Given the description of an element on the screen output the (x, y) to click on. 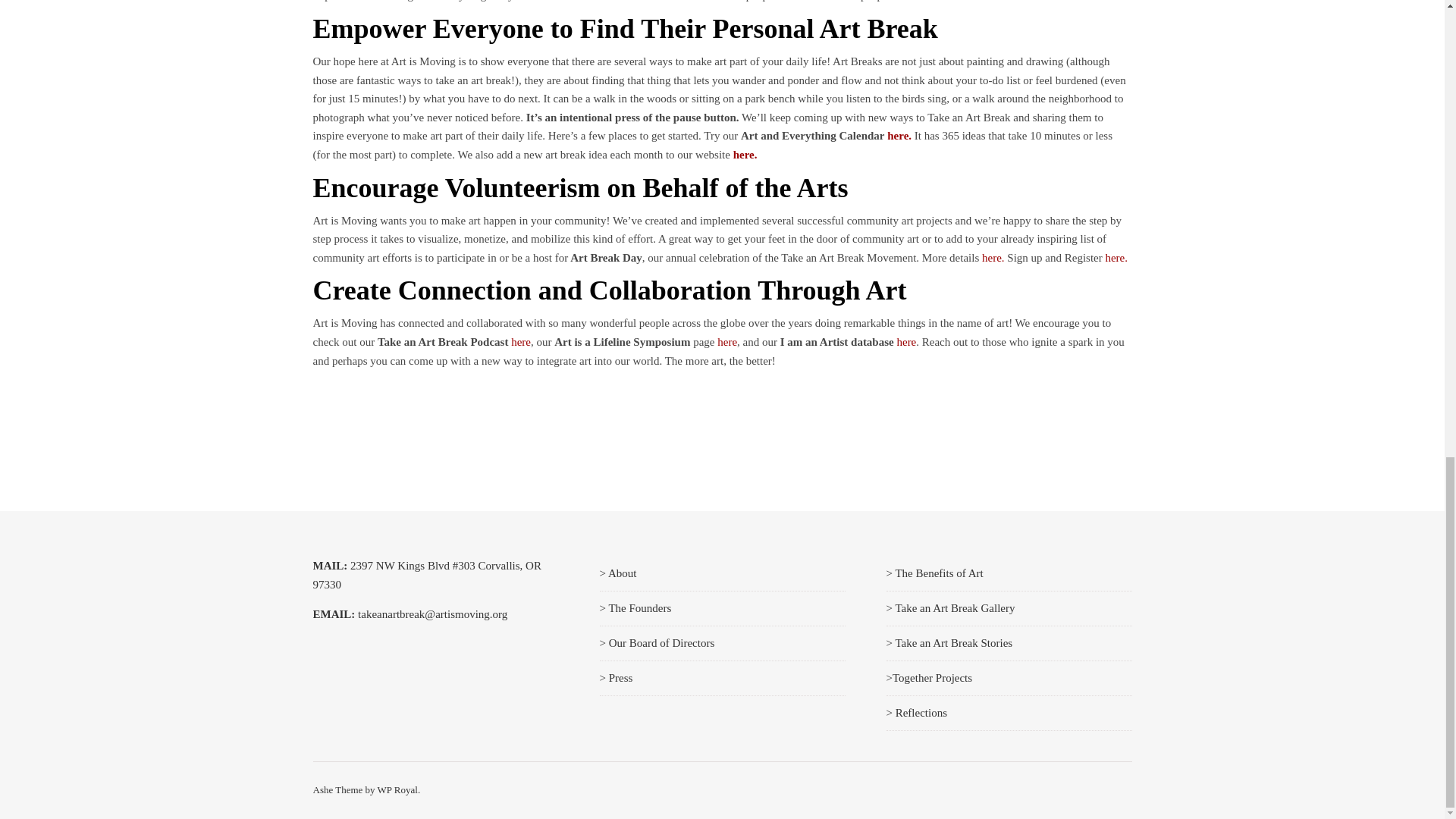
here (521, 341)
here (726, 341)
here. (992, 257)
here. (745, 154)
WP Royal (397, 789)
here. (898, 135)
here (905, 341)
here. (1115, 257)
